Given the description of an element on the screen output the (x, y) to click on. 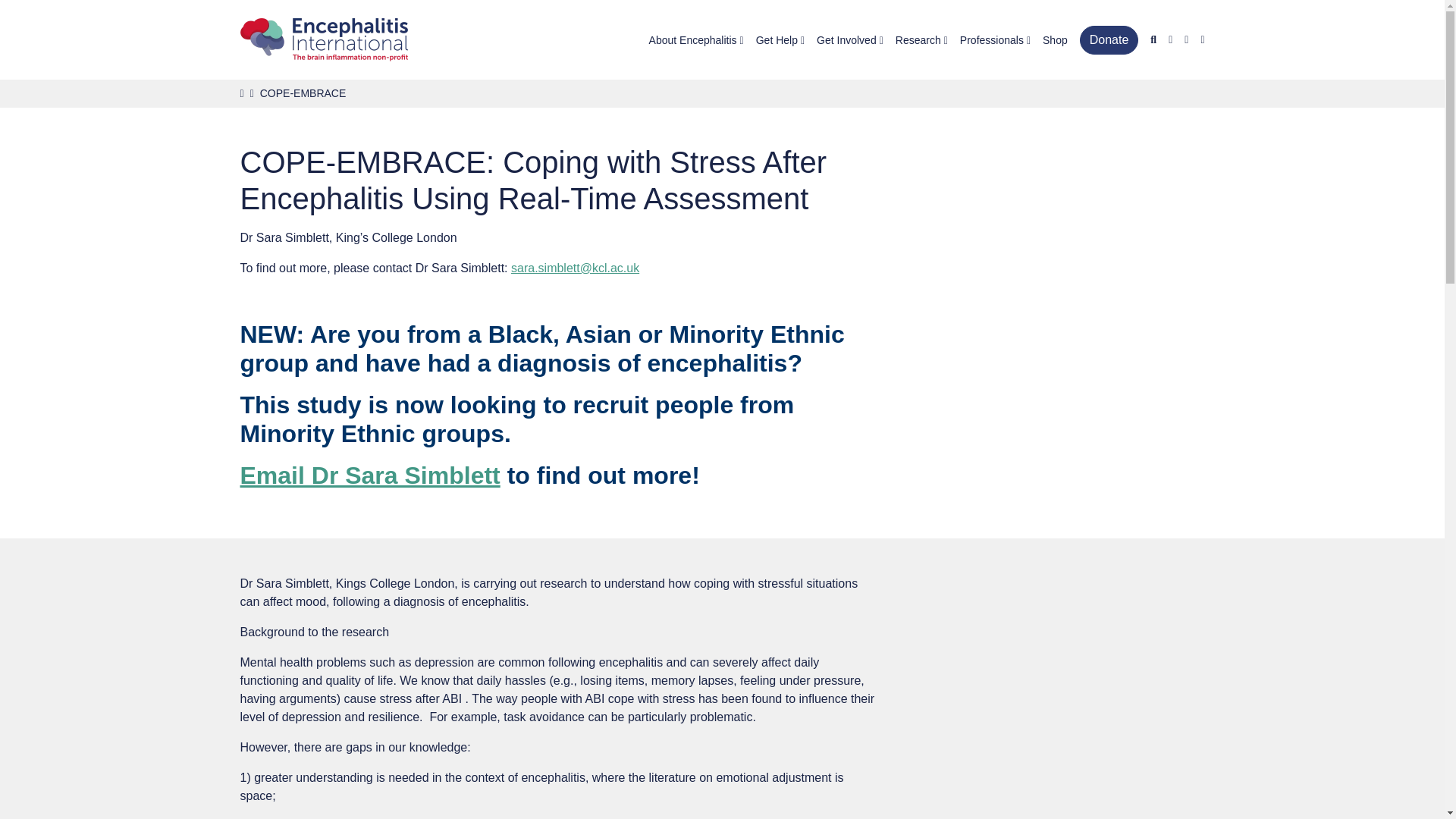
About Encephalitis (696, 41)
Go To Website Home Page (323, 38)
About Encephalitis (696, 41)
